Given the description of an element on the screen output the (x, y) to click on. 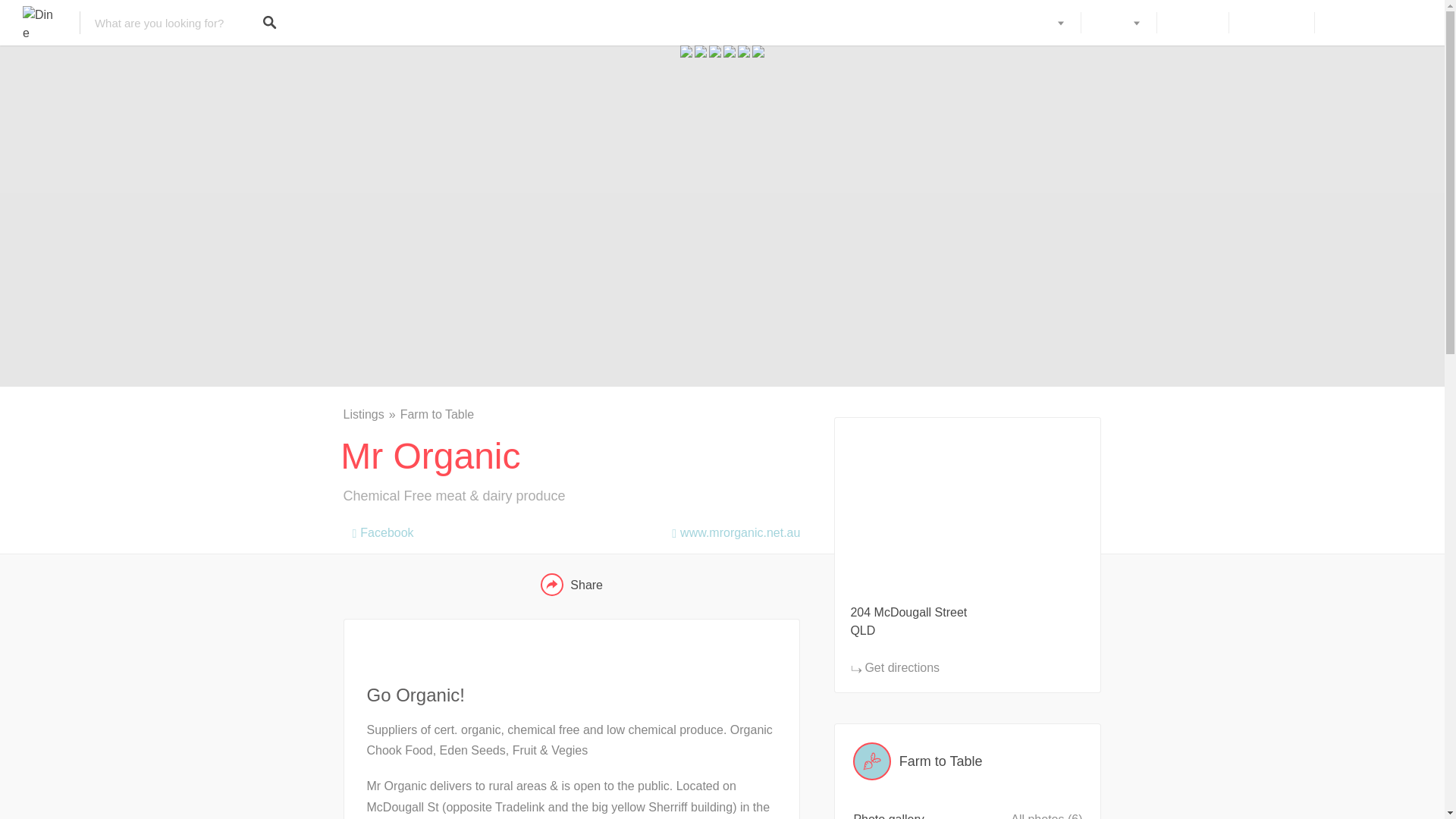
BLOG (1118, 22)
Listings (370, 414)
Facebook (377, 529)
DIRECTORY (1028, 22)
Farm to Table (437, 414)
JOIN US (1192, 22)
GET IN TOUCH (1368, 22)
Farm to Table (967, 761)
www.mrorganic.net.au (730, 529)
Share (571, 584)
